Given the description of an element on the screen output the (x, y) to click on. 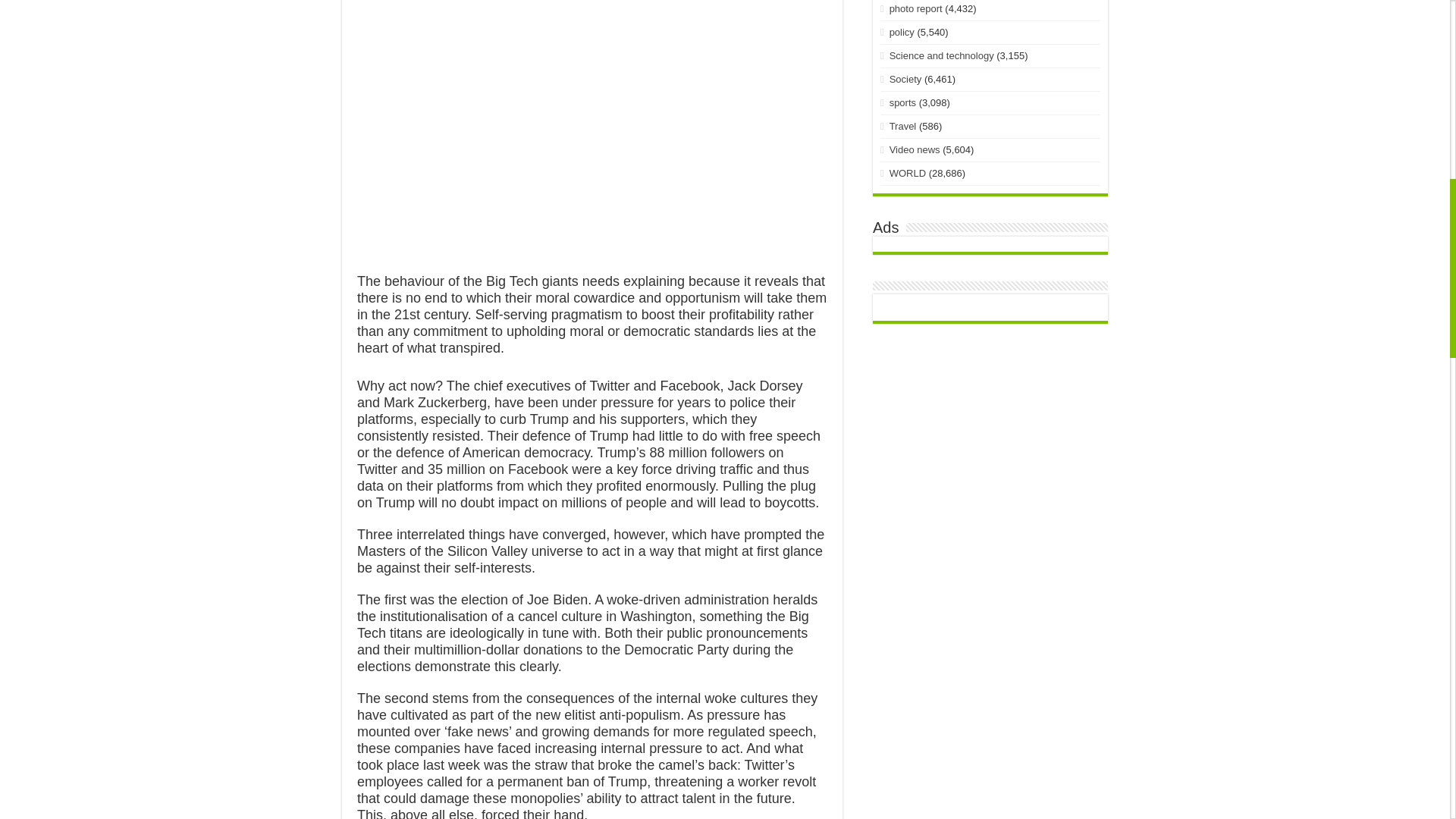
Scroll To Top (1427, 60)
